Given the description of an element on the screen output the (x, y) to click on. 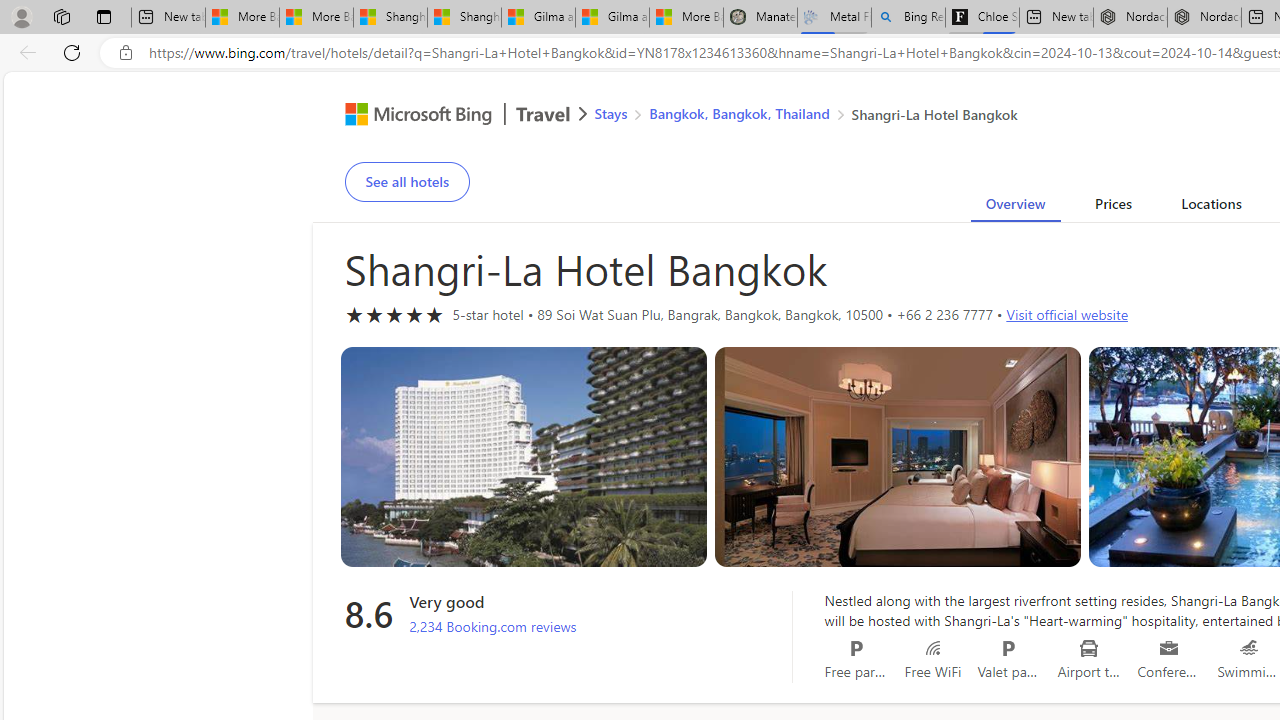
Chloe Sorvino (981, 17)
Bangkok, Bangkok, Thailand (738, 112)
See all hotels (406, 182)
Class: msft-bing-logo msft-bing-logo-desktop (413, 114)
2,234 Booking.com reviews (493, 627)
Prices (1112, 207)
Free WiFi (932, 647)
